Given the description of an element on the screen output the (x, y) to click on. 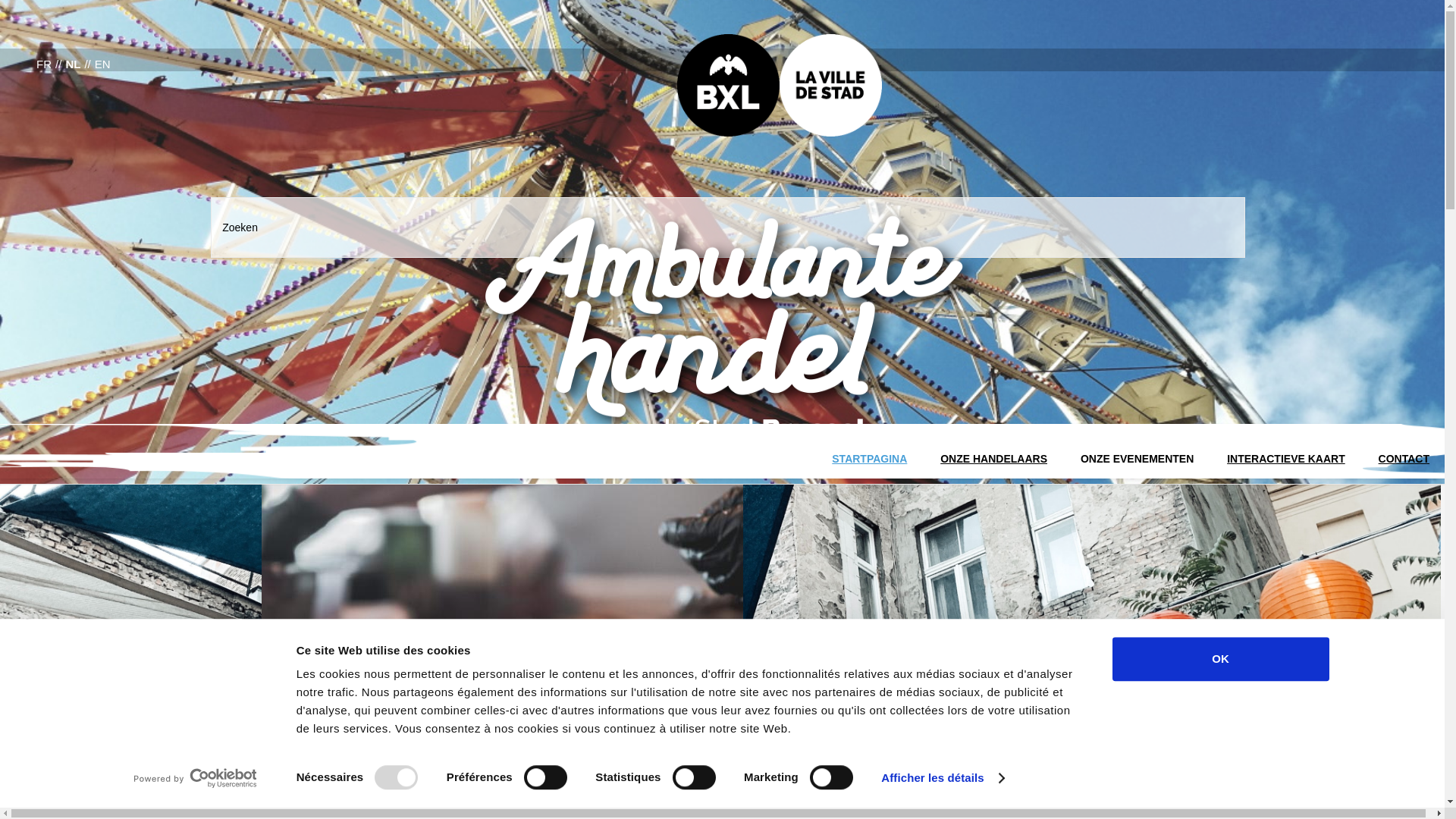
FR Element type: text (43, 63)
OK Element type: text (1219, 658)
5 Element type: text (79, 804)
Geef de woorden op waarnaar u wilt zoeken. Element type: hover (727, 227)
ONZE HANDELAARS Element type: text (993, 451)
EN Element type: text (102, 63)
Foren en kermissen Element type: text (722, 410)
3 Element type: text (49, 804)
STARTPAGINA Element type: text (869, 451)
NL Element type: text (72, 63)
U bent handelaar Element type: text (722, 410)
Zoeken Element type: text (40, 17)
2 Element type: text (34, 804)
Overslaan en naar de inhoud gaan Element type: text (0, 0)
Nieuws Element type: text (1381, 27)
4 Element type: text (64, 804)
INTERACTIEVE KAART Element type: text (1285, 451)
1 Element type: text (19, 804)
De ambulante handel Element type: text (722, 410)
CONTACT Element type: text (1403, 451)
